Given the description of an element on the screen output the (x, y) to click on. 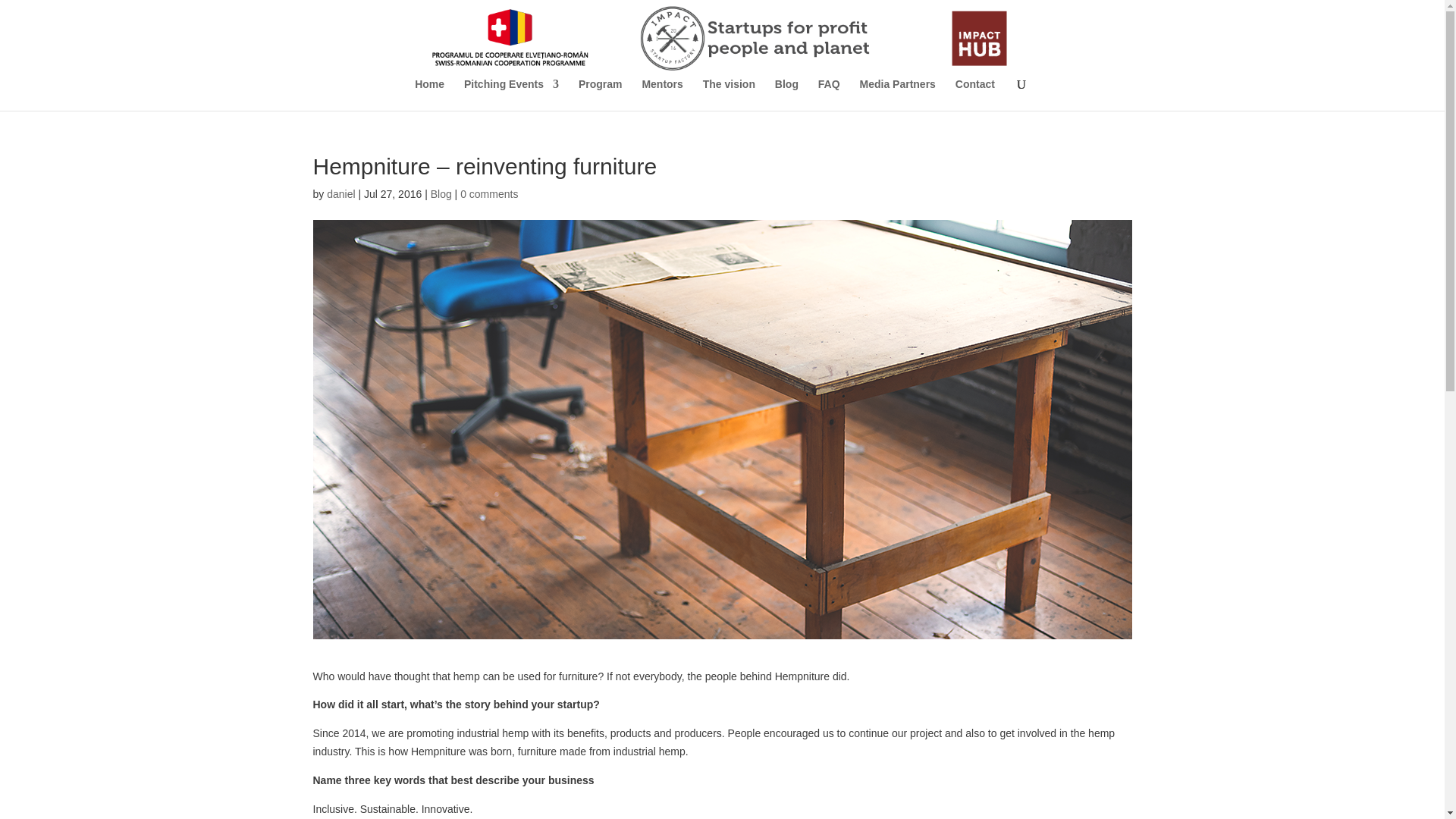
Mentors (662, 94)
Home (429, 94)
Pitching Events (511, 94)
Media Partners (898, 94)
Blog (440, 193)
daniel (340, 193)
0 comments (489, 193)
Contact (974, 94)
The vision (729, 94)
Posts by daniel (340, 193)
Program (600, 94)
